Given the description of an element on the screen output the (x, y) to click on. 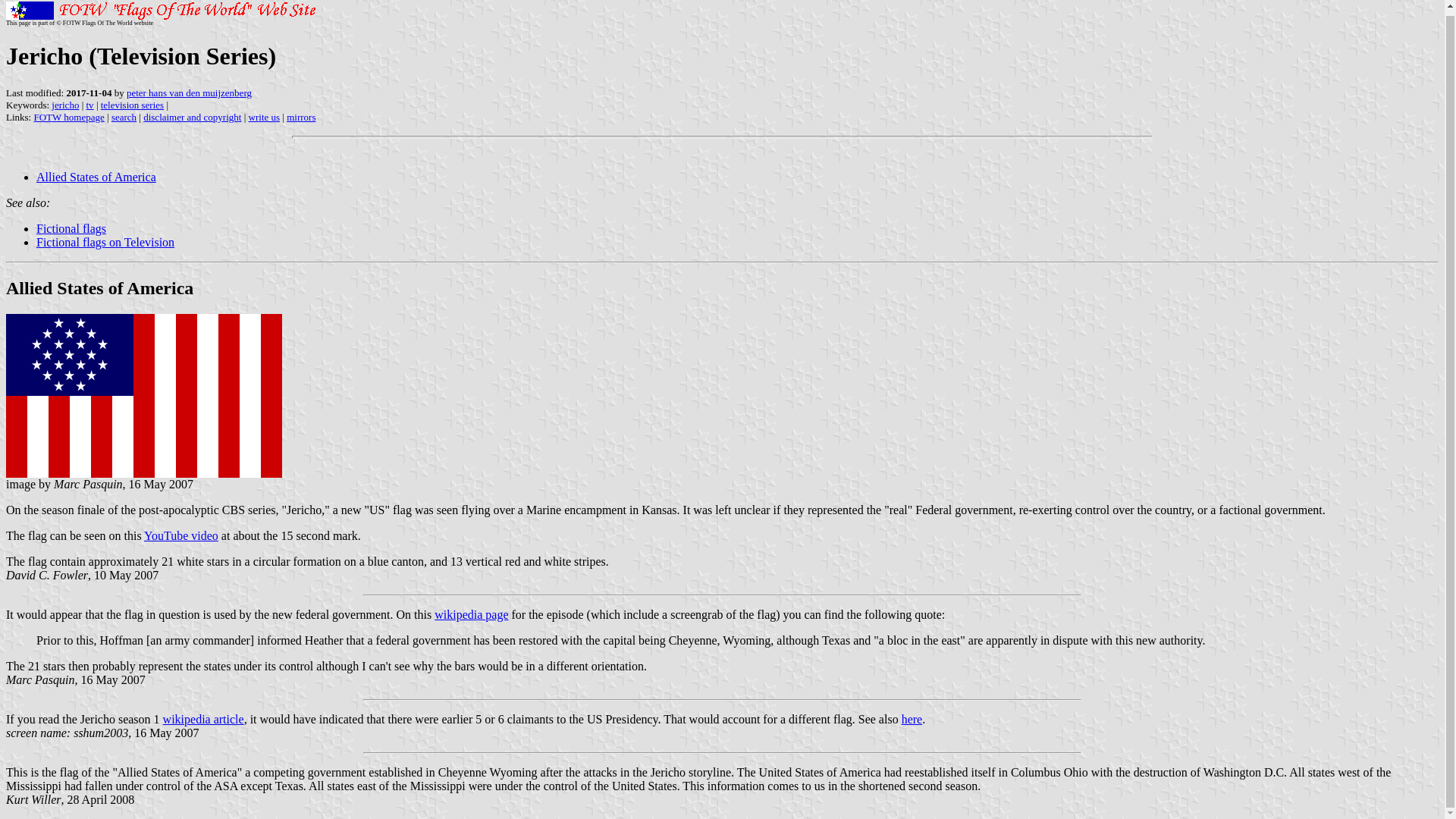
jericho (64, 104)
television series (131, 104)
here (912, 718)
Allied States of America (95, 176)
search (124, 116)
disclaimer and copyright (191, 116)
YouTube video (181, 535)
peter hans van den muijzenberg (188, 92)
wikipedia page (470, 614)
Allied States of America (99, 288)
